Given the description of an element on the screen output the (x, y) to click on. 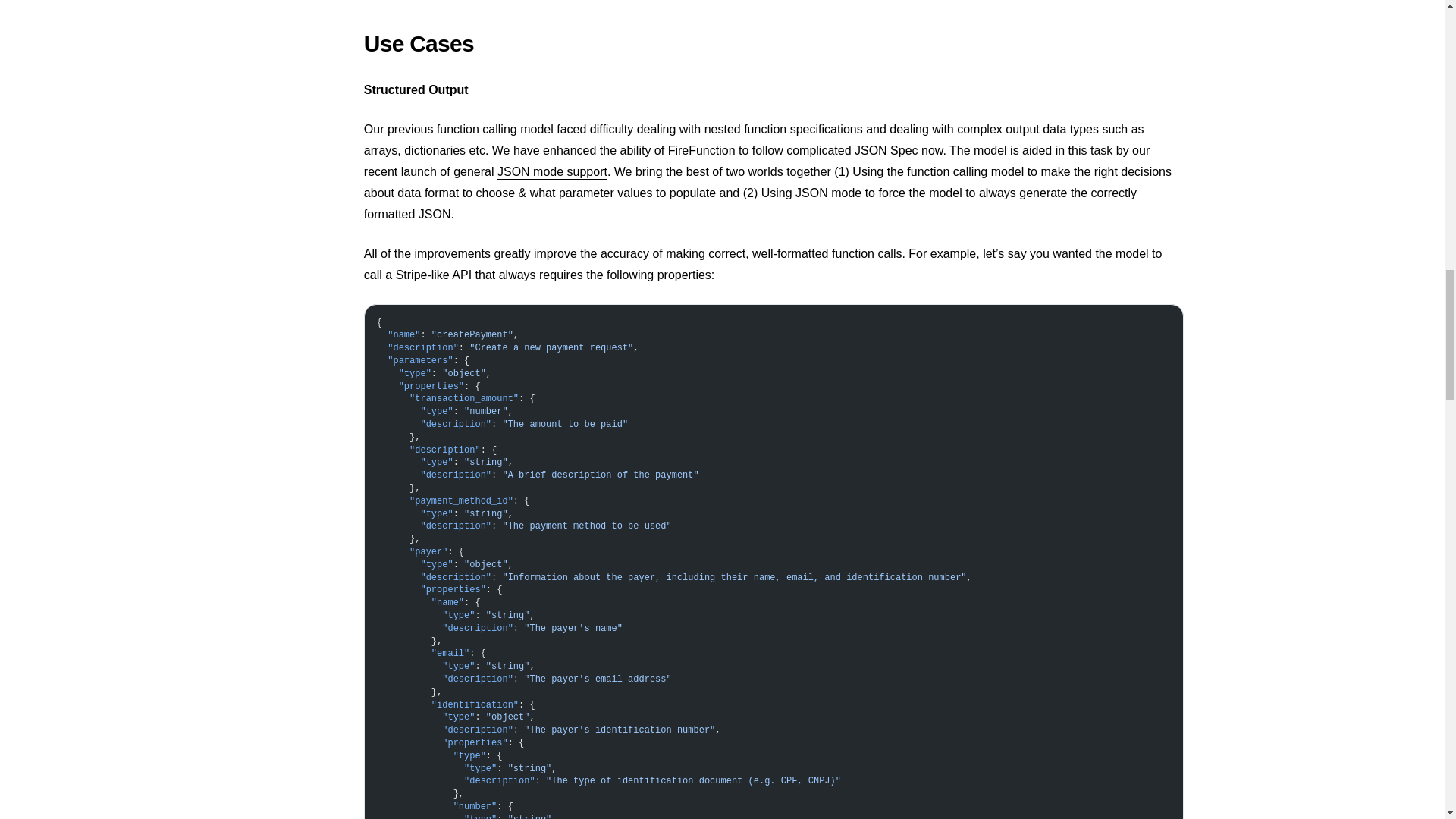
JSON mode support (552, 171)
Use Cases (773, 45)
